Given the description of an element on the screen output the (x, y) to click on. 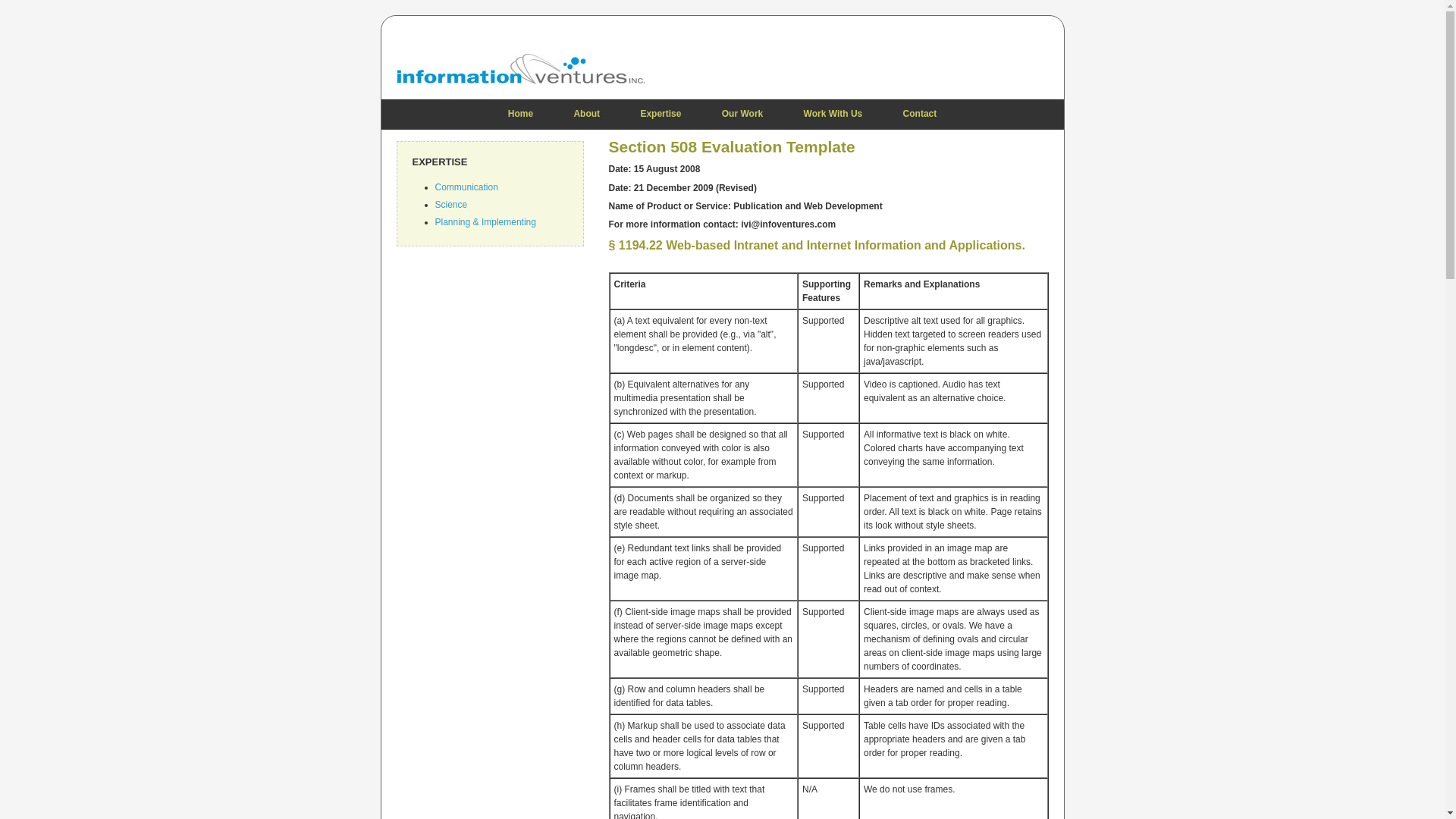
Contact (919, 113)
Home (520, 113)
Communication (466, 186)
About (586, 113)
Science (451, 204)
Expertise (660, 113)
EXPERTISE (439, 161)
Work With Us (833, 113)
Our Work (742, 113)
